Given the description of an element on the screen output the (x, y) to click on. 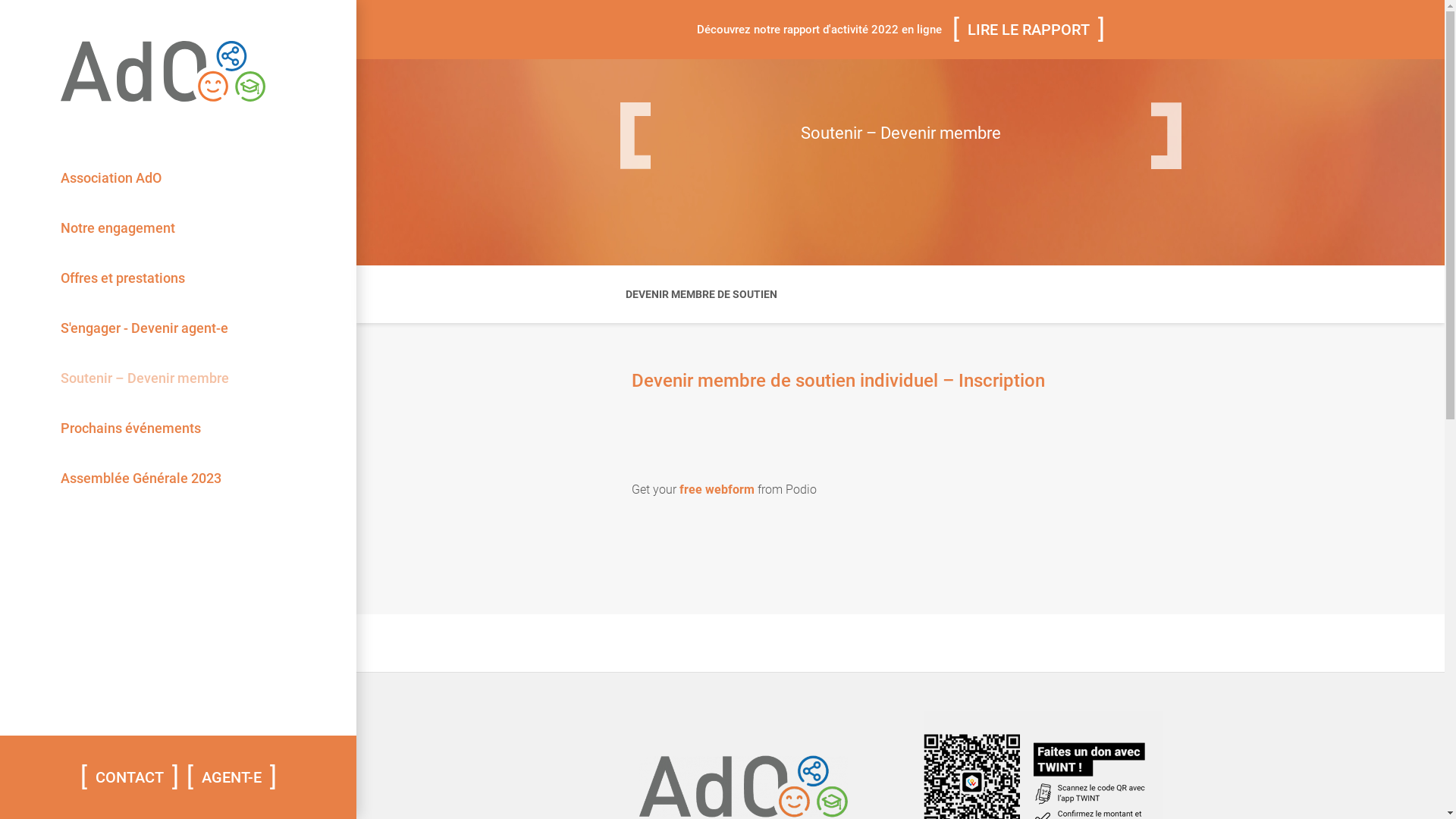
Notre engagement Element type: text (117, 228)
DEVENIR MEMBRE DE SOUTIEN Element type: text (700, 293)
Association AdO Element type: text (110, 178)
CONTACT Element type: text (129, 777)
AGENT-E Element type: text (231, 777)
free webform Element type: text (716, 489)
Offres et prestations Element type: text (122, 278)
S'engager - Devenir agent-e Element type: text (144, 328)
LIRE LE RAPPORT Element type: text (1028, 29)
